Given the description of an element on the screen output the (x, y) to click on. 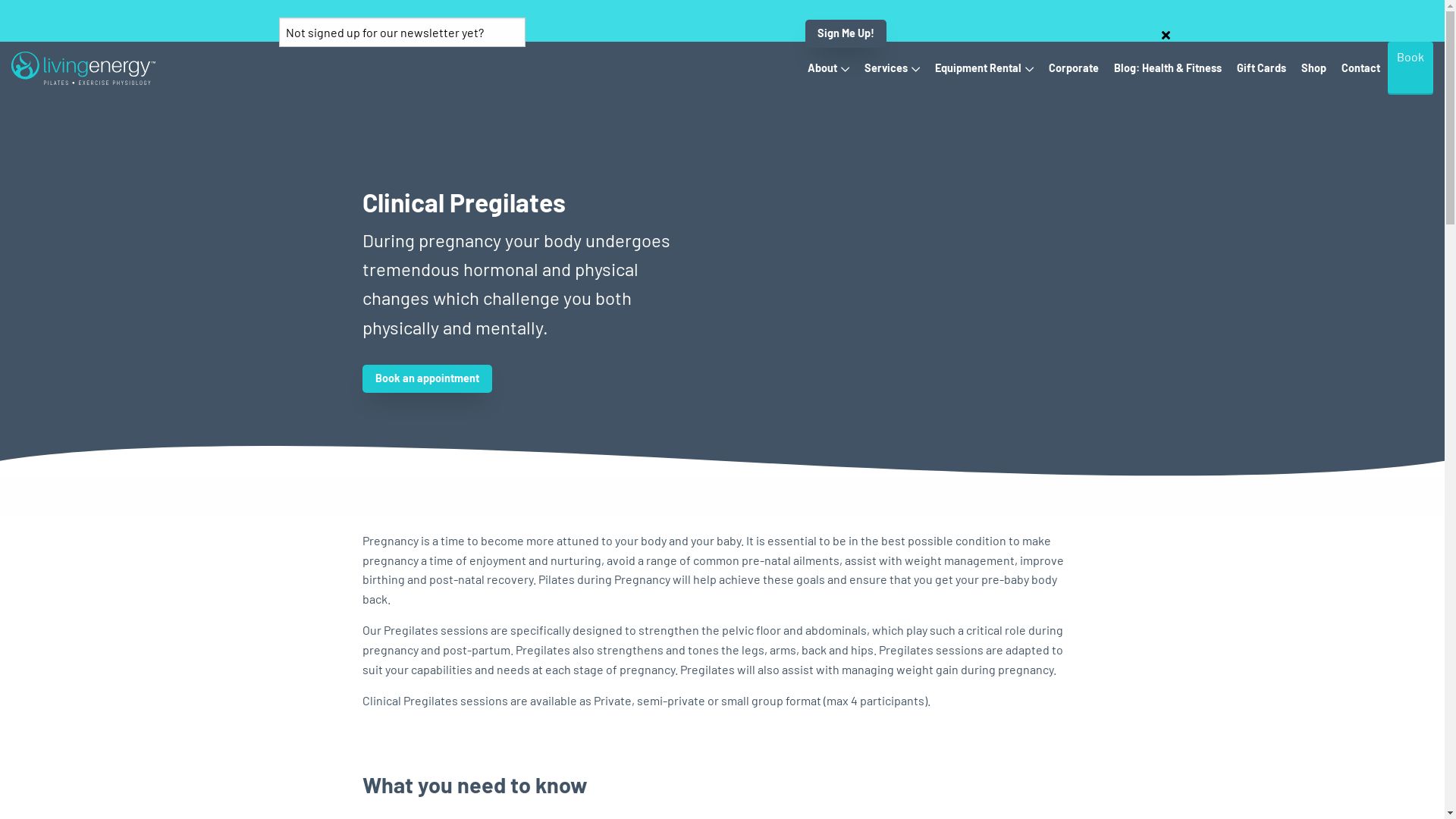
Sign Me Up! Element type: text (845, 33)
Book Element type: text (1410, 67)
Book an appointment Element type: text (427, 378)
Shop Element type: text (1313, 67)
Corporate Element type: text (1073, 67)
Contact Element type: text (1360, 67)
Blog: Health & Fitness Element type: text (1167, 67)
About Element type: text (828, 67)
Services Element type: text (891, 67)
Gift Cards Element type: text (1261, 67)
Equipment Rental Element type: text (984, 67)
